Given the description of an element on the screen output the (x, y) to click on. 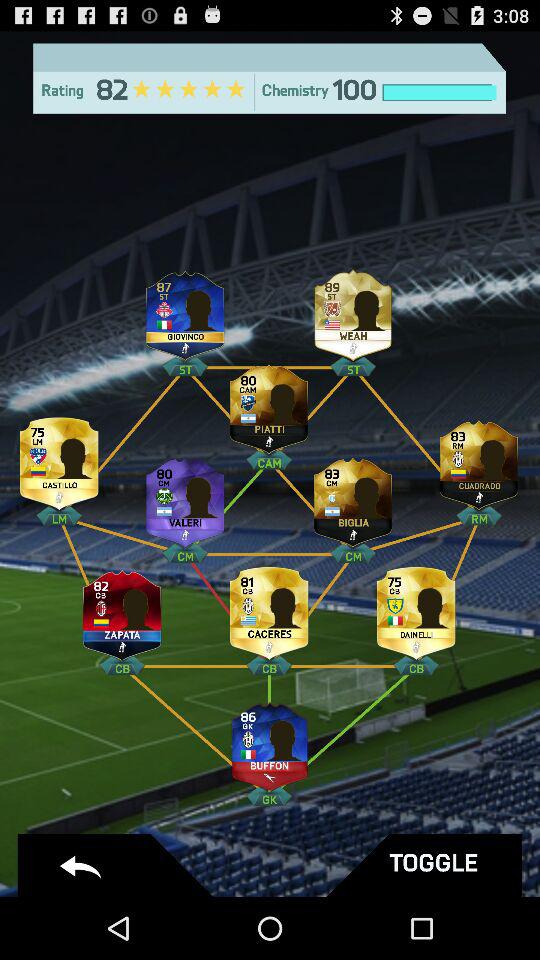
select player (122, 609)
